Given the description of an element on the screen output the (x, y) to click on. 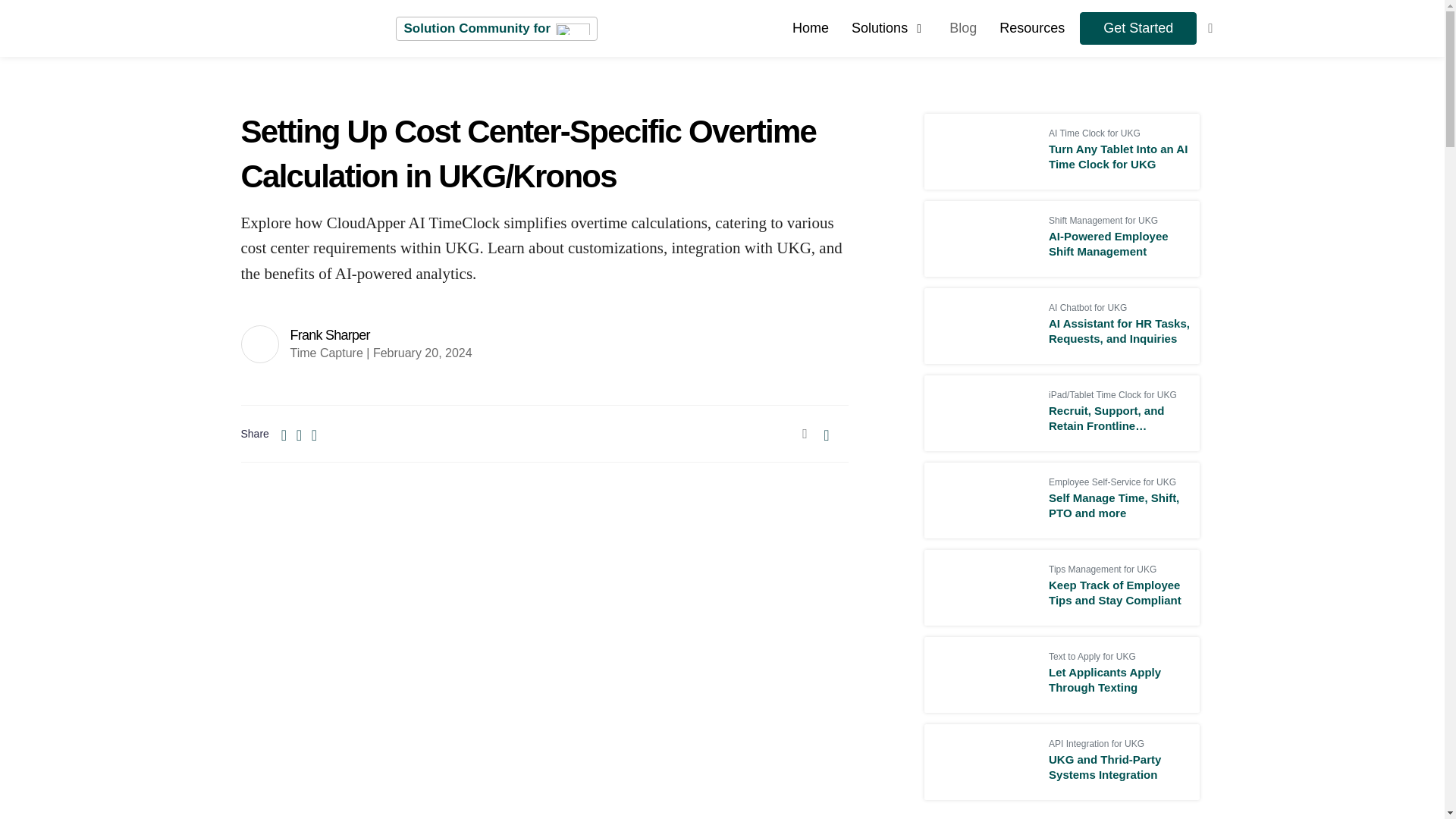
Home (810, 27)
Solutions (888, 27)
CloudApper AI (810, 27)
Resources (1031, 27)
CloudApper AI Solutions (888, 27)
Get Started (1138, 28)
Blog (962, 27)
